Given the description of an element on the screen output the (x, y) to click on. 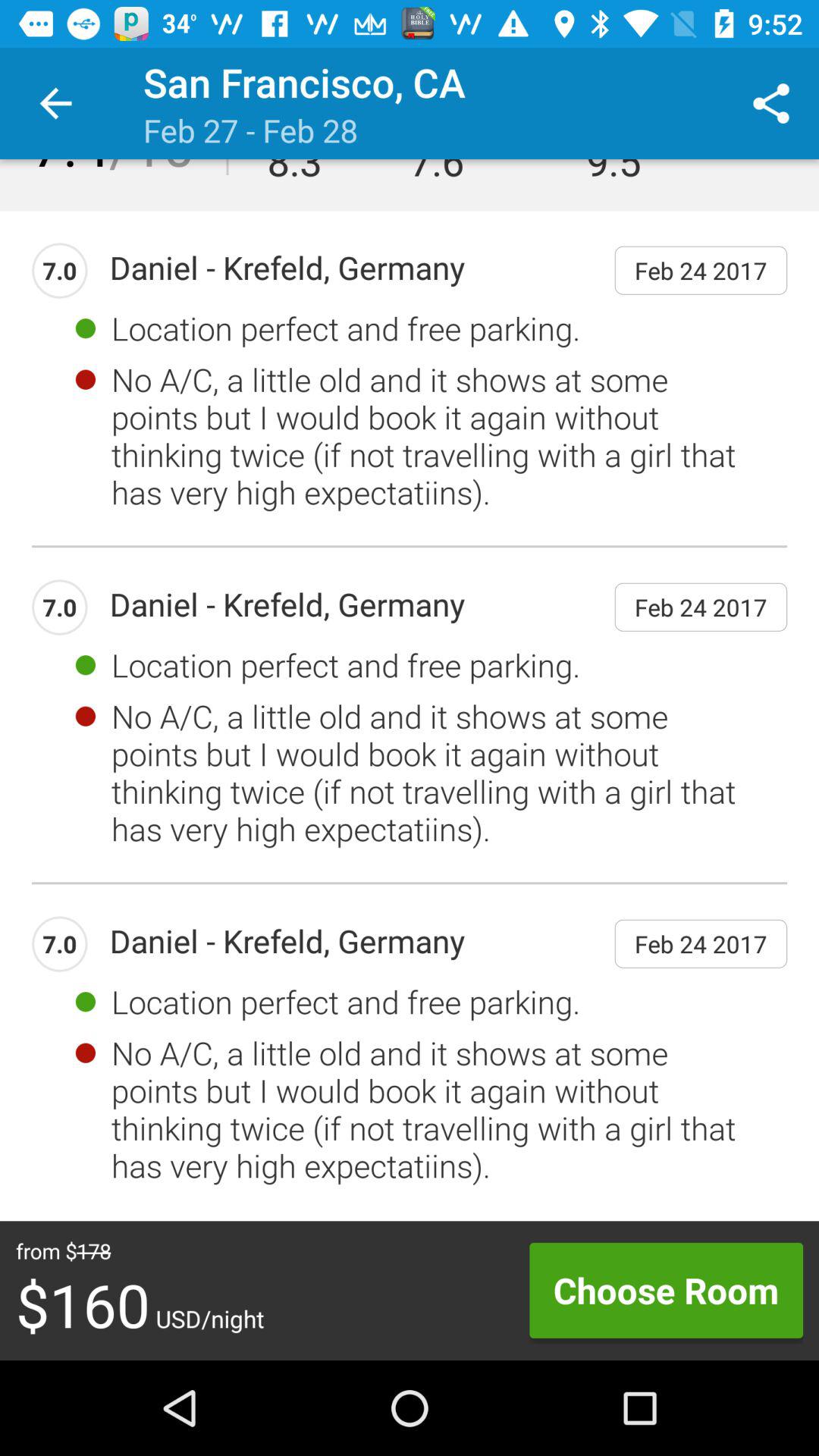
launch icon next to the $160 usd/night (666, 1290)
